Given the description of an element on the screen output the (x, y) to click on. 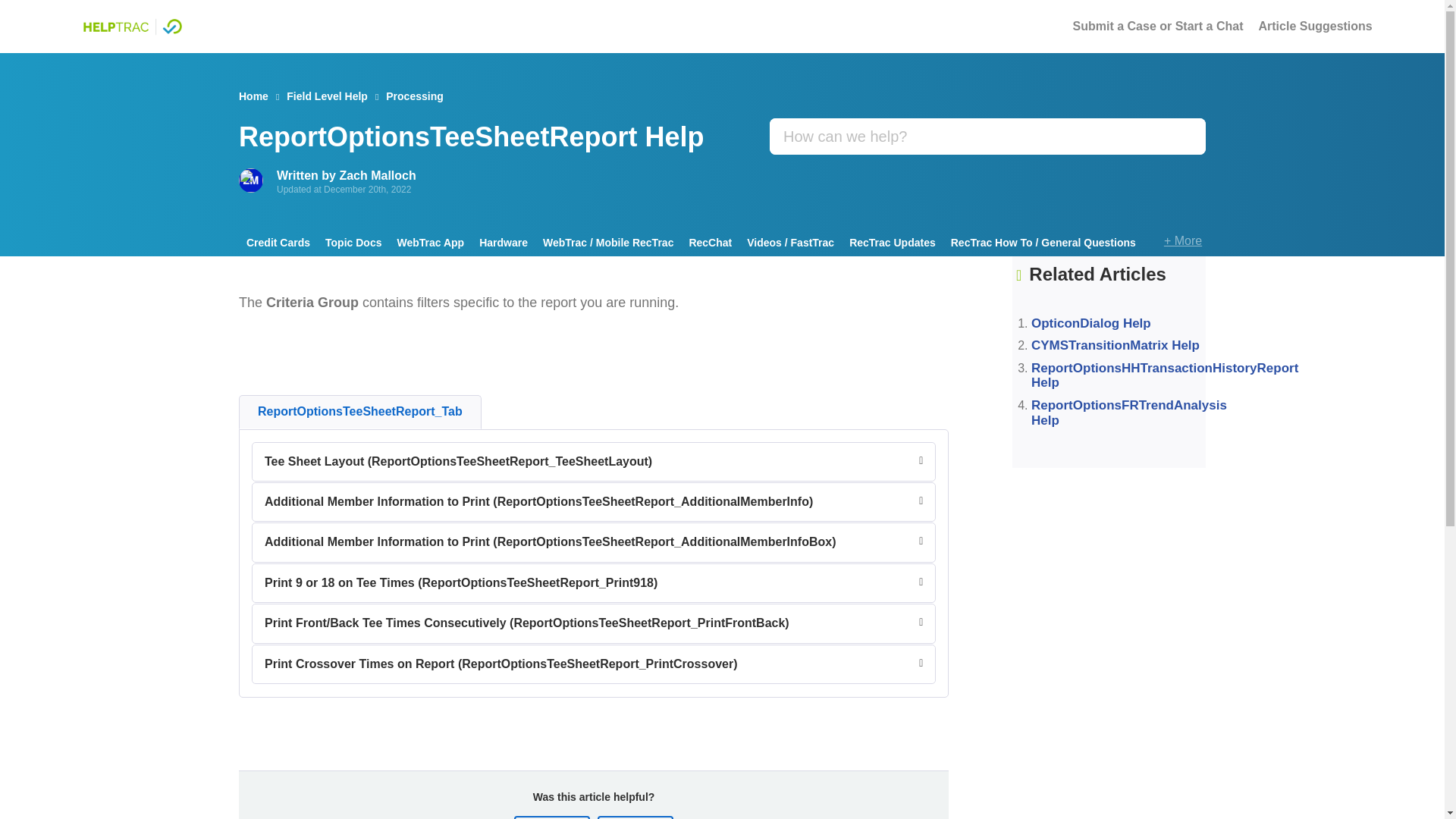
Article Suggestions (1316, 25)
HelpTrac (132, 26)
Field Level Help (327, 96)
Hardware (503, 242)
RecChat (710, 242)
Zach Malloch (376, 174)
Home (252, 96)
Credit Cards (277, 242)
Processing (413, 96)
Topic Docs (352, 242)
